Given the description of an element on the screen output the (x, y) to click on. 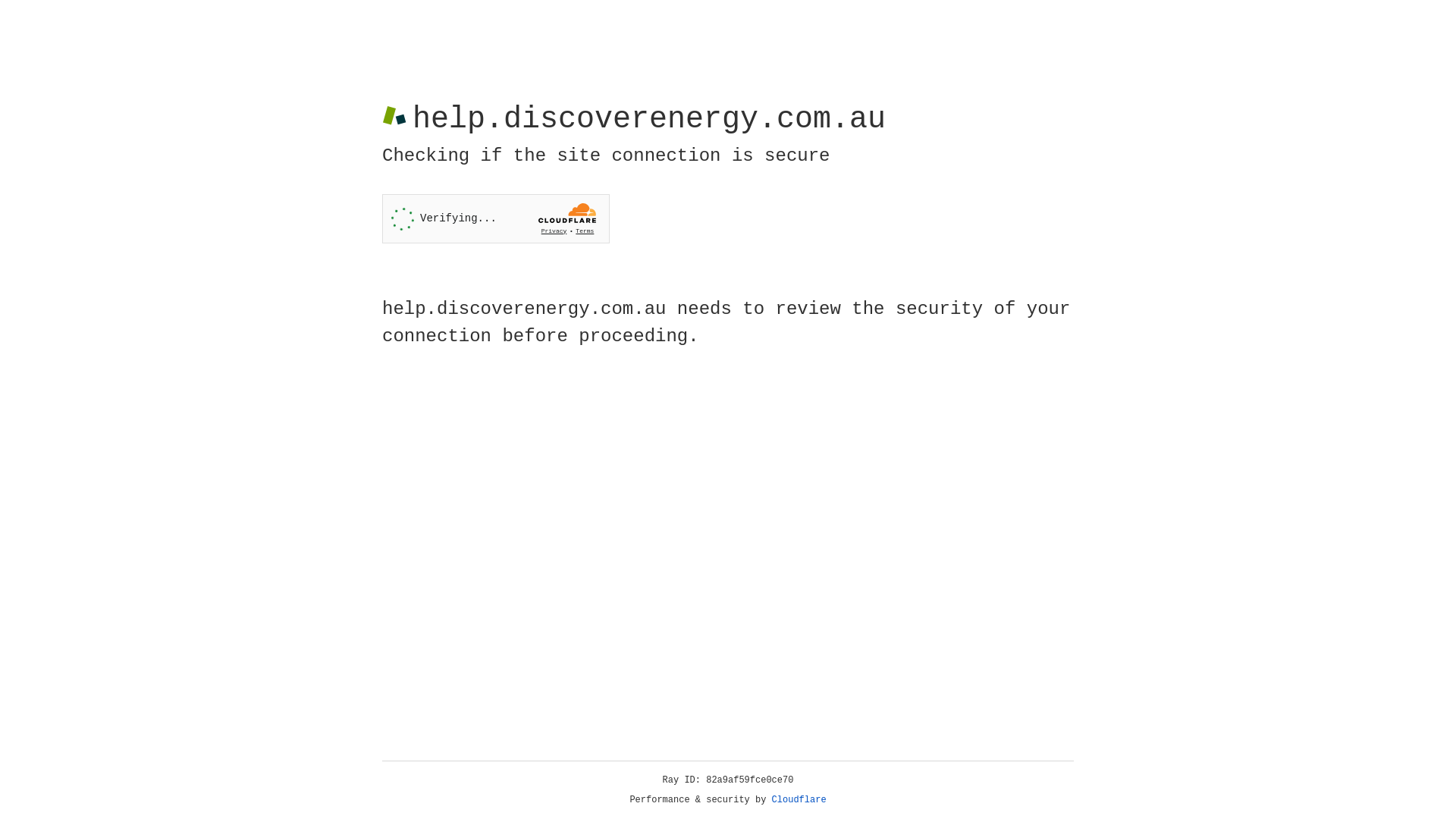
Widget containing a Cloudflare security challenge Element type: hover (495, 218)
Cloudflare Element type: text (798, 799)
